Given the description of an element on the screen output the (x, y) to click on. 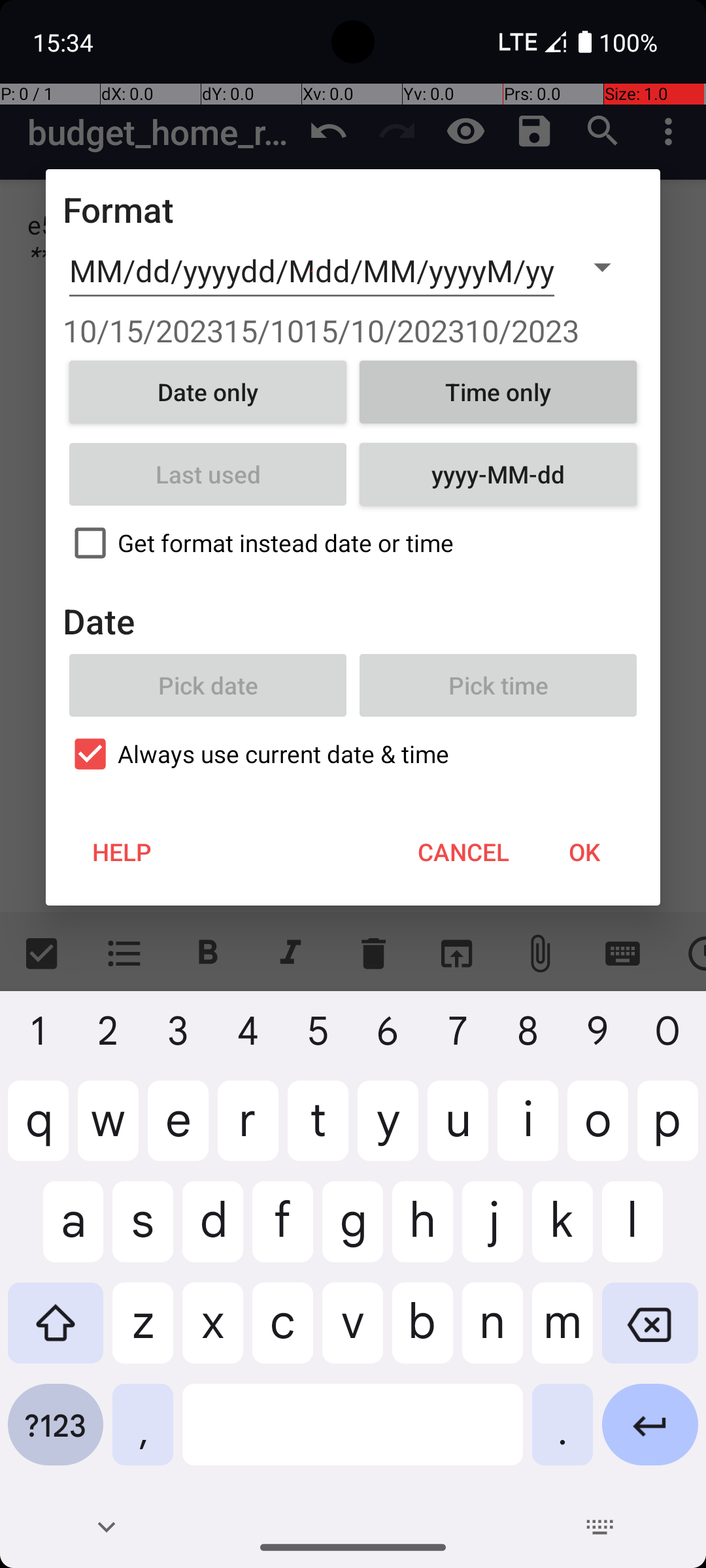
MM/dd/yyyydd/Mdd/MM/yyyyM/yyyy Element type: android.widget.EditText (311, 270)
10/15/202315/1015/10/202310/2023 Element type: android.widget.TextView (352, 329)
